Given the description of an element on the screen output the (x, y) to click on. 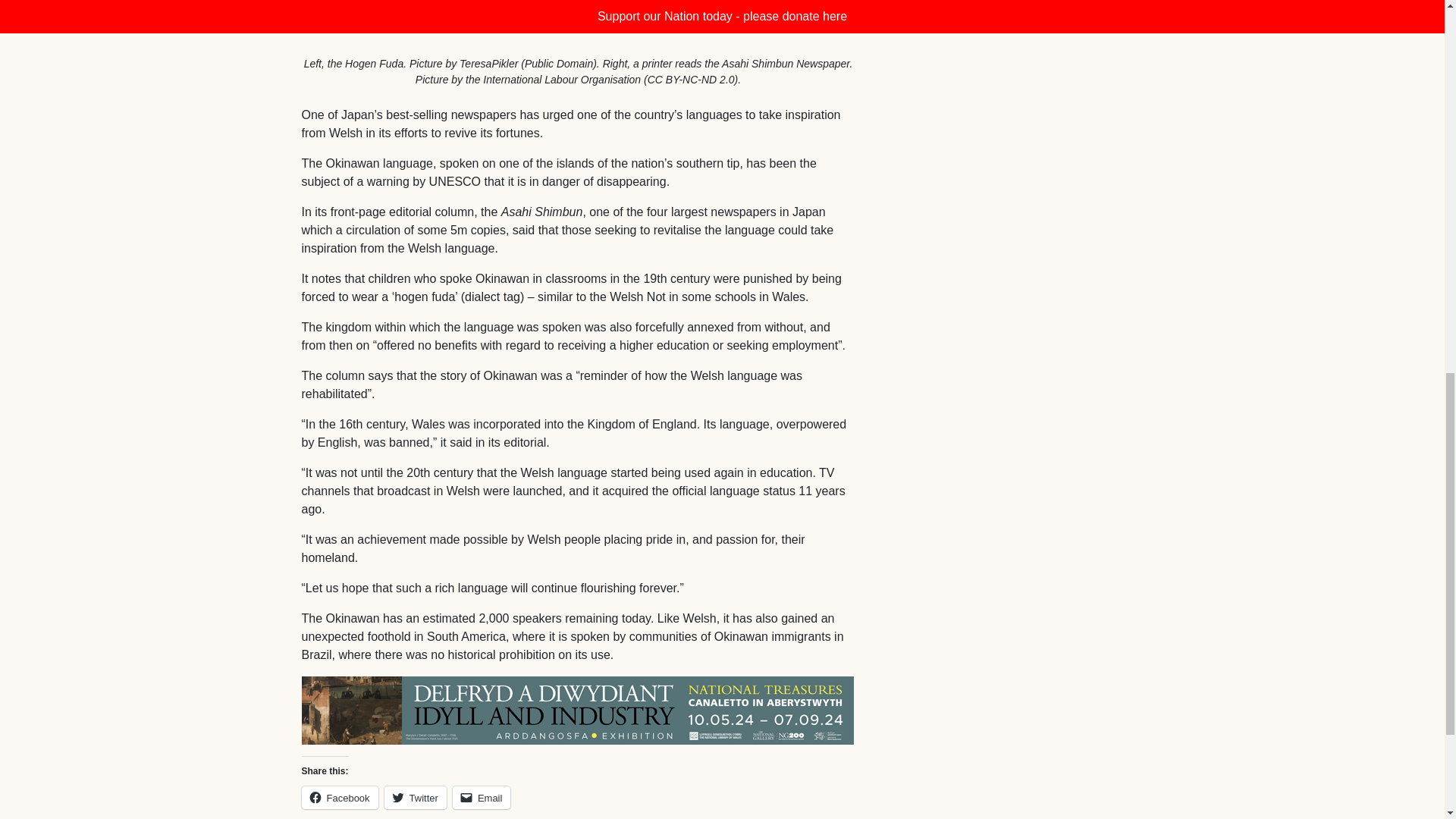
Twitter (415, 797)
Email (481, 797)
Click to share on Twitter (415, 797)
Click to email a link to a friend (481, 797)
Facebook (339, 797)
Click to share on Facebook (339, 797)
